Given the description of an element on the screen output the (x, y) to click on. 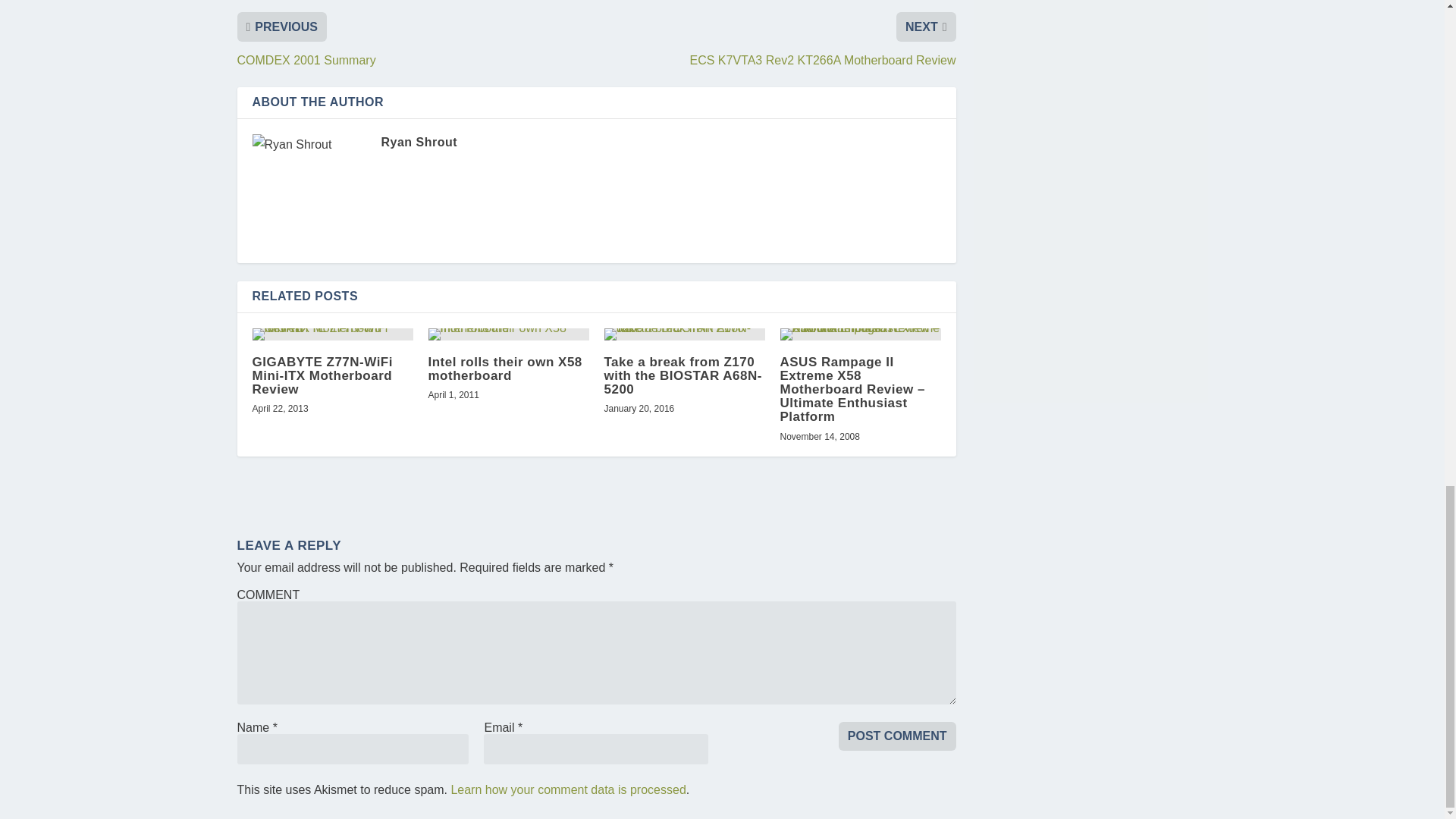
Post Comment (897, 736)
GIGABYTE Z77N-WiFi Mini-ITX Motherboard Review (331, 334)
Intel rolls their own X58 motherboard (508, 334)
View all posts by Ryan Shrout (418, 141)
